Given the description of an element on the screen output the (x, y) to click on. 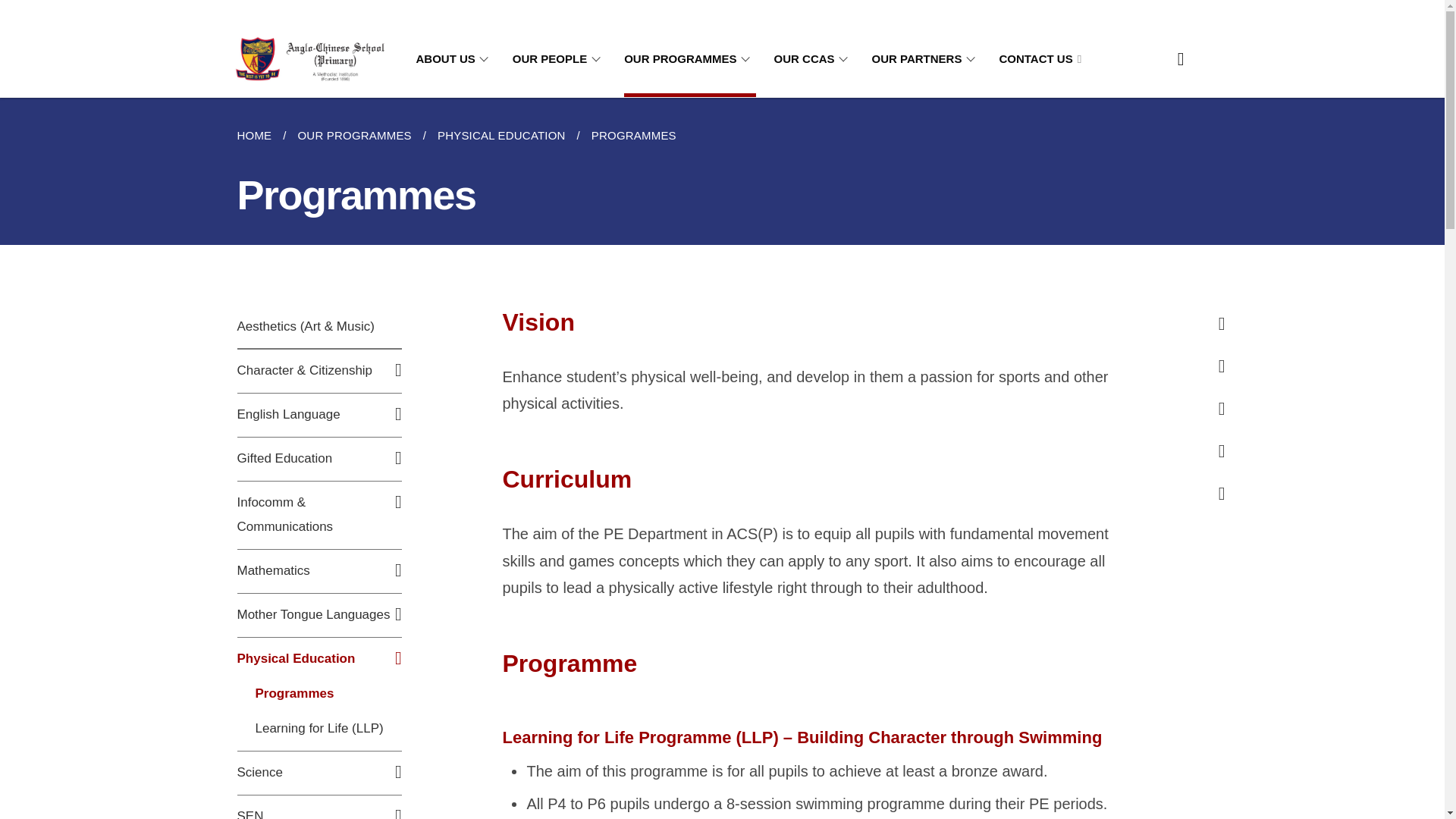
OUR PROGRAMMES (689, 59)
OUR CCAS (813, 59)
CONTACT US (1039, 59)
HOME (258, 135)
OUR PEOPLE (558, 59)
ABOUT US (453, 59)
OUR PARTNERS (926, 59)
